Given the description of an element on the screen output the (x, y) to click on. 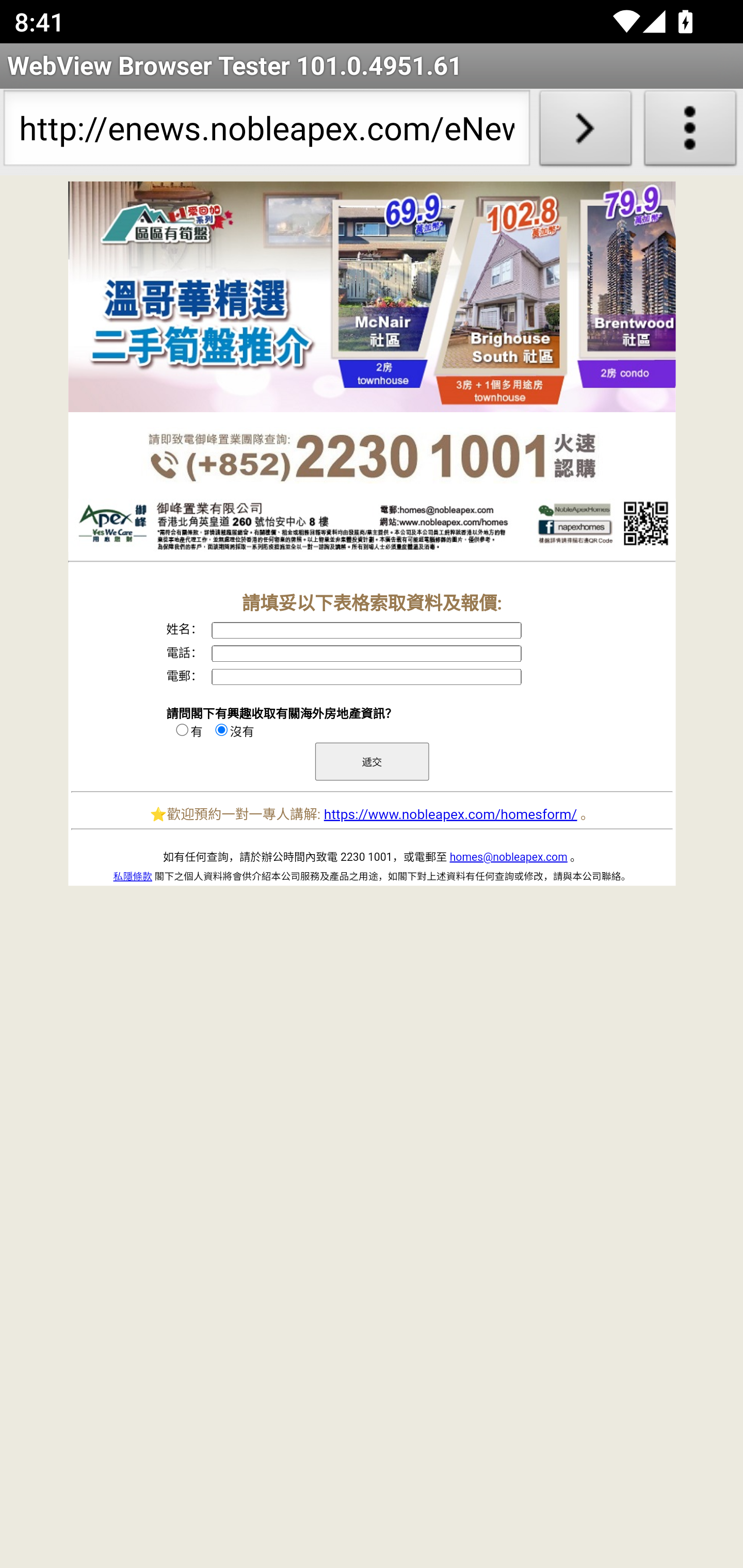
Load URL (585, 132)
About WebView (690, 132)
Default (372, 296)
tel:22301001 (372, 456)
homes (372, 526)
有 (181, 728)
沒有 (220, 728)
遞交 (371, 760)
https://www.nobleapex.com/homesform/ (450, 814)
homes@nobleapex.com (508, 856)
私隱條款 (132, 876)
